Given the description of an element on the screen output the (x, y) to click on. 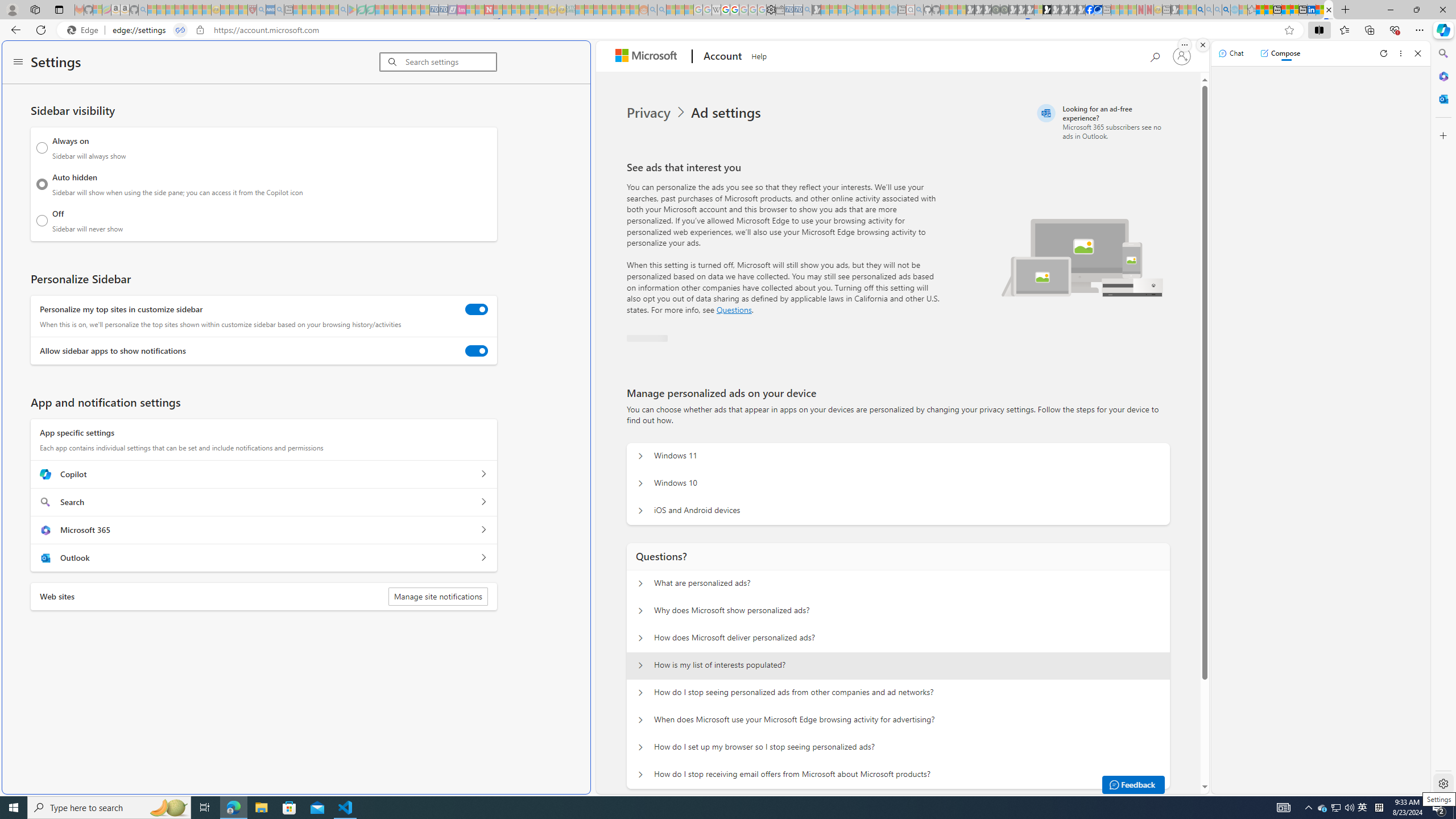
Always on Sidebar will always show (42, 147)
More options. (1183, 45)
Manage site notifications (437, 596)
